Given the description of an element on the screen output the (x, y) to click on. 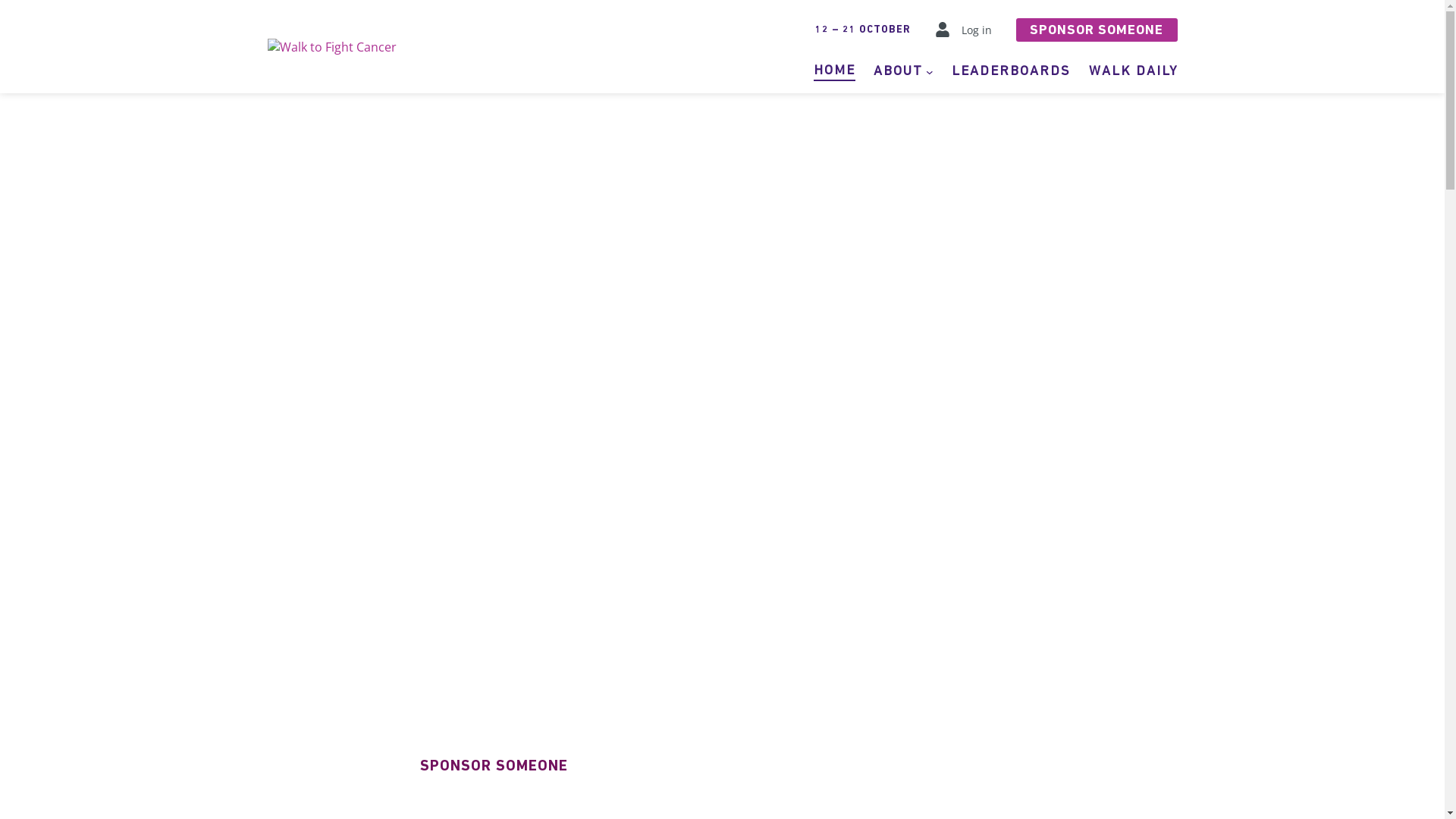
ABOUT Element type: text (897, 71)
SPONSOR SOMEONE Element type: text (1096, 29)
LEADERBOARDS Element type: text (1010, 71)
Log in Element type: text (976, 29)
WALK DAILY Element type: text (1132, 71)
SPONSOR SOMEONE Element type: text (493, 765)
HOME Element type: text (834, 71)
